Given the description of an element on the screen output the (x, y) to click on. 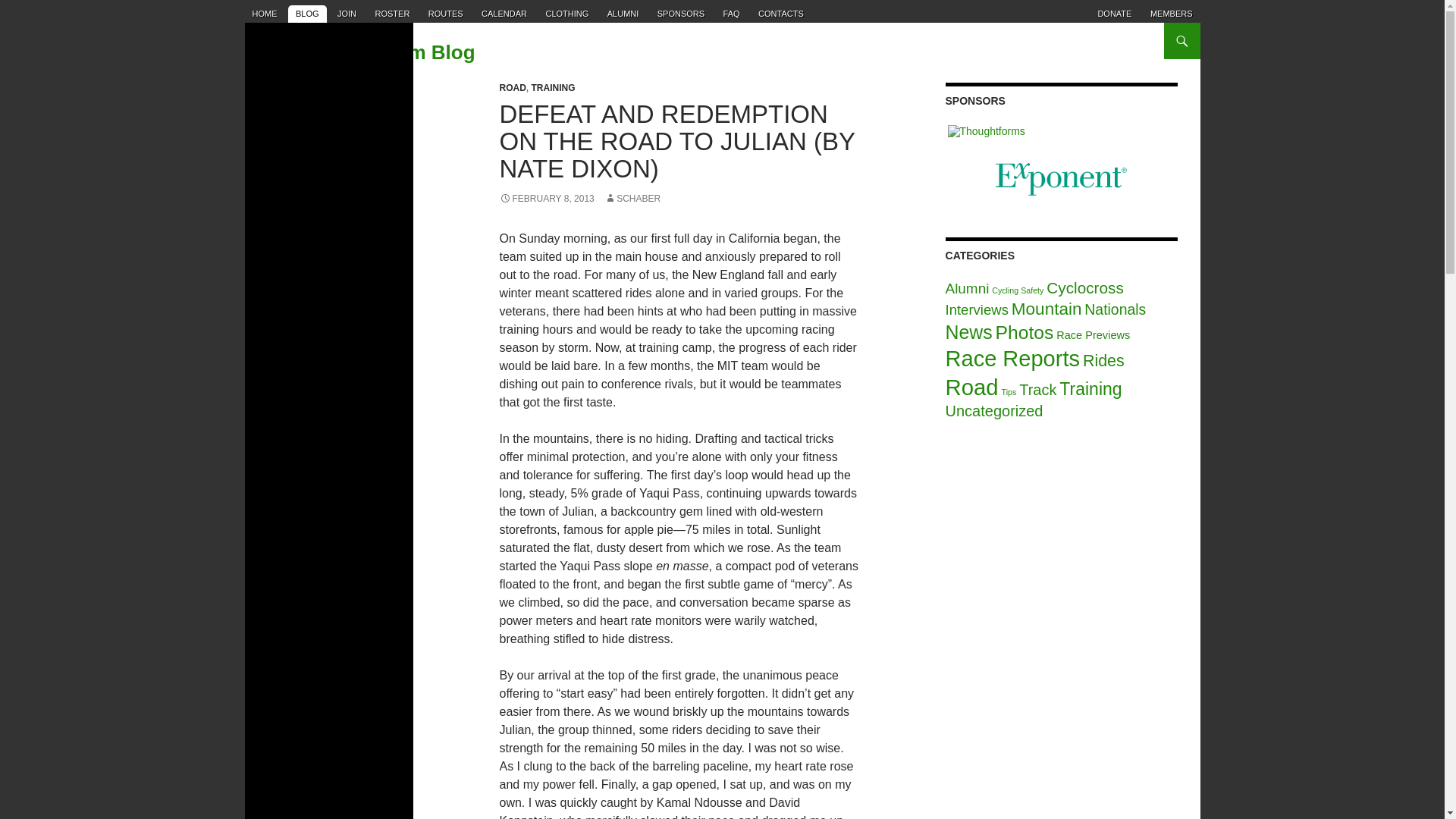
clothing (566, 13)
TRAINING (553, 87)
roster (391, 13)
alumni (622, 13)
Alumni (967, 288)
Race Previews (1093, 335)
Cyclocross (1085, 287)
members (1170, 13)
contacts (780, 13)
Road (971, 386)
